Given the description of an element on the screen output the (x, y) to click on. 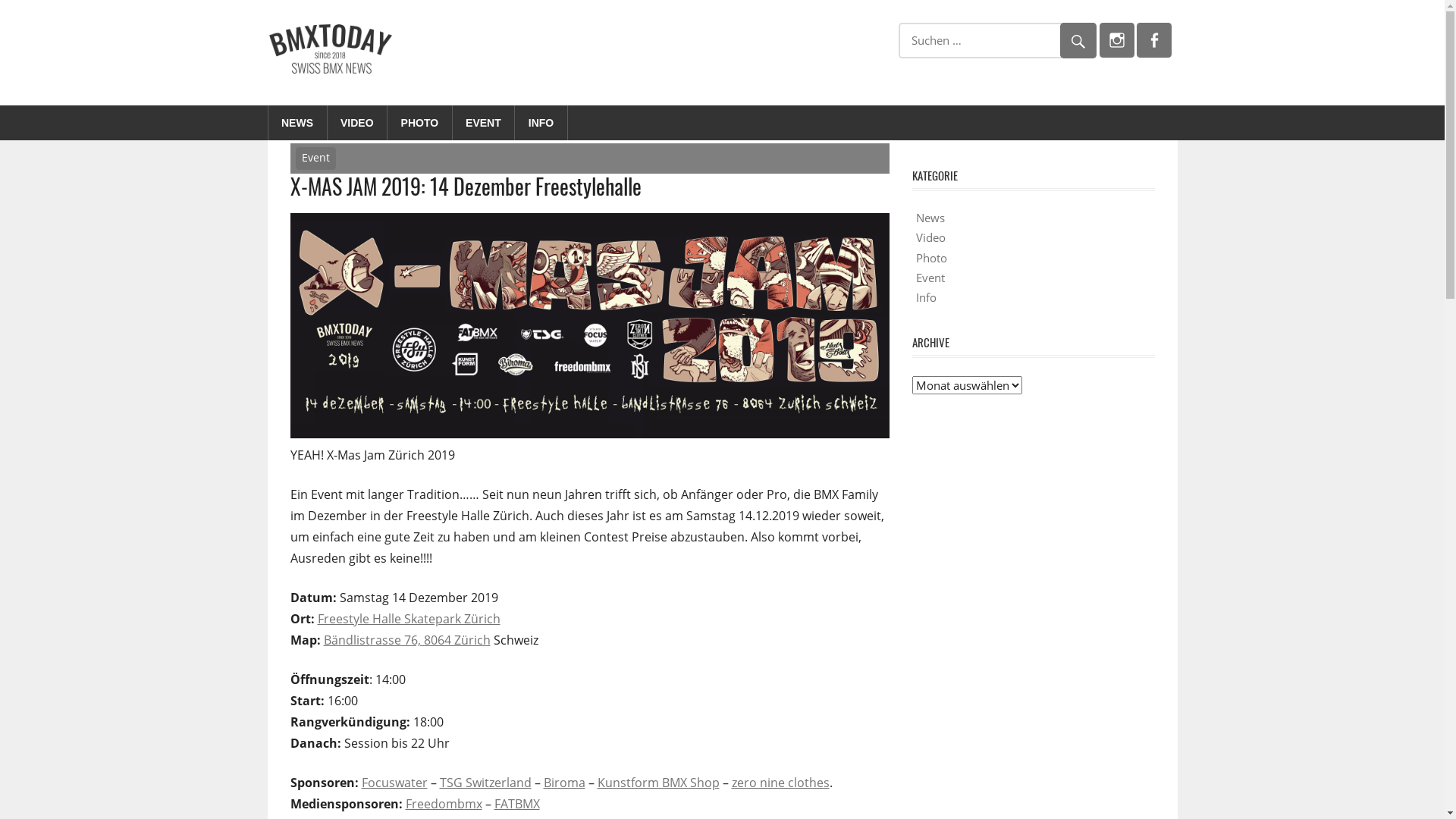
Event Element type: text (315, 158)
EVENT Element type: text (483, 122)
Photo Element type: text (931, 257)
FATBMX Element type: text (516, 803)
Info Element type: text (926, 296)
TSG Switzerland Element type: text (485, 782)
Focuswater Element type: text (393, 782)
NEWS Element type: text (297, 122)
News Element type: text (930, 217)
VIDEO Element type: text (357, 122)
INFO Element type: text (540, 122)
zero nine clothes Element type: text (779, 782)
Video Element type: text (930, 236)
Zum Inhalt springen Element type: text (0, 0)
PHOTO Element type: text (419, 122)
Suchen nach: Element type: hover (996, 40)
Event Element type: text (930, 277)
Kunstform BMX Shop Element type: text (658, 782)
Biroma Element type: text (563, 782)
Freedombmx Element type: text (442, 803)
BMXTODAY Element type: text (449, 42)
